Given the description of an element on the screen output the (x, y) to click on. 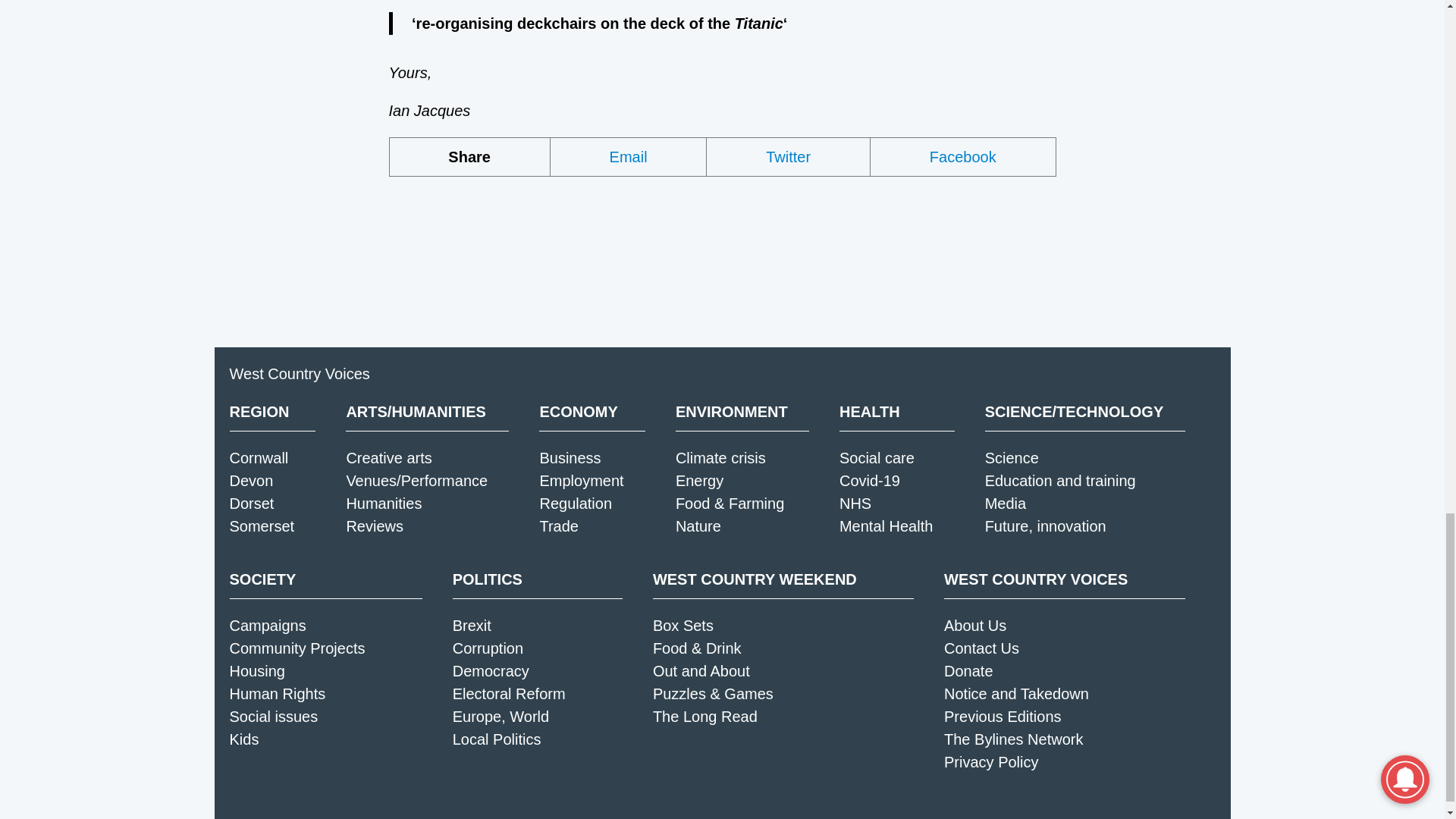
Nature (697, 525)
Business (568, 457)
Devon (250, 480)
Reviews (374, 525)
Twitter (788, 157)
Humanities (384, 503)
Email (628, 157)
REGION (271, 411)
Somerset (261, 525)
Energy (699, 480)
Social care (877, 457)
HEALTH (897, 411)
Creative arts (388, 457)
Employment (580, 480)
Dorset (250, 503)
